Given the description of an element on the screen output the (x, y) to click on. 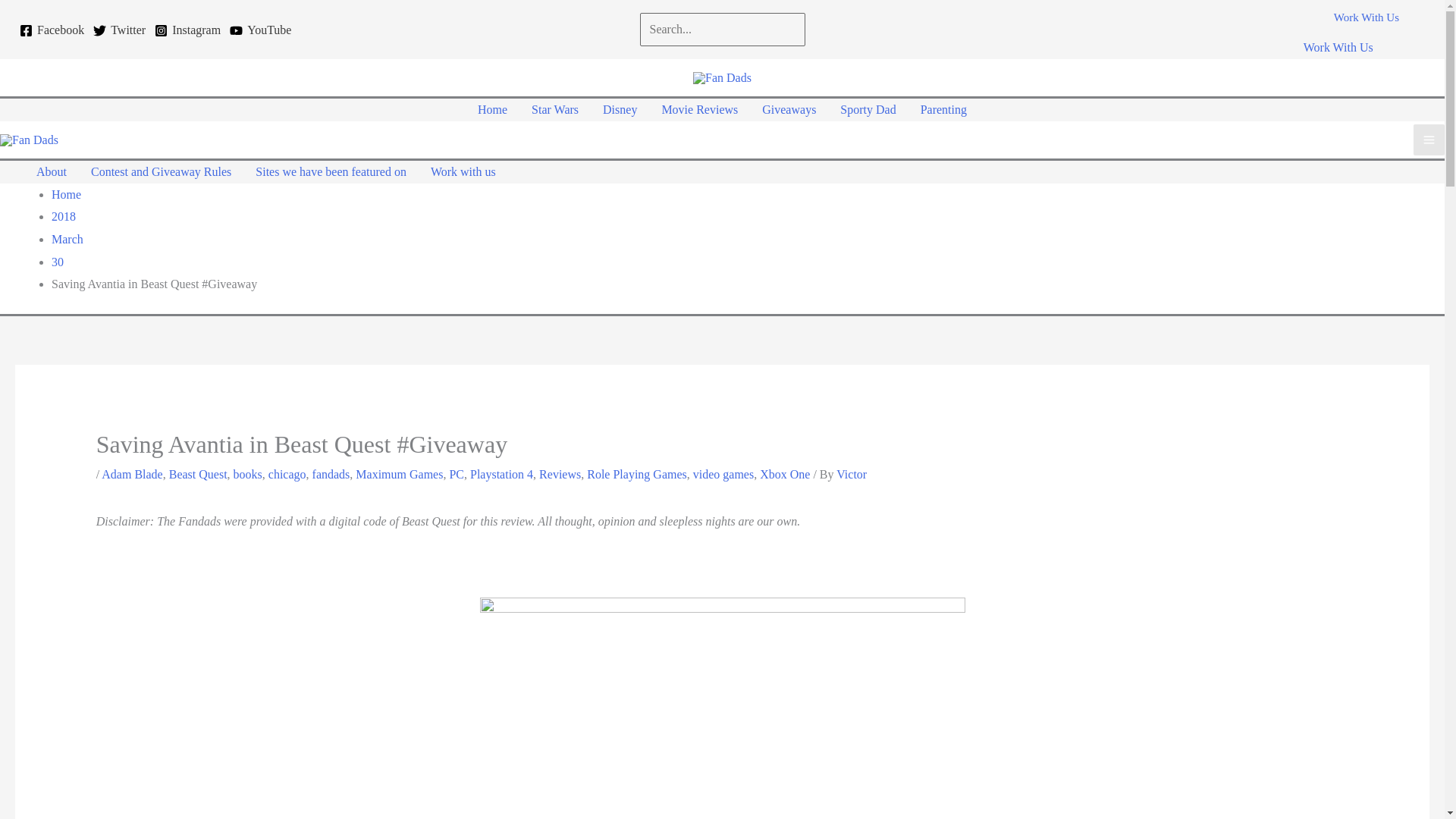
Sporty Dad (867, 109)
30 (57, 261)
PC (456, 473)
Playstation 4 (501, 473)
Maximum Games (398, 473)
fandads (331, 473)
About (51, 171)
Parenting (943, 109)
Sites we have been featured on (331, 171)
Movie Reviews (699, 109)
Beast Quest (197, 473)
Instagram (187, 30)
Work With Us (1366, 27)
Adam Blade (131, 473)
Facebook (52, 30)
